Given the description of an element on the screen output the (x, y) to click on. 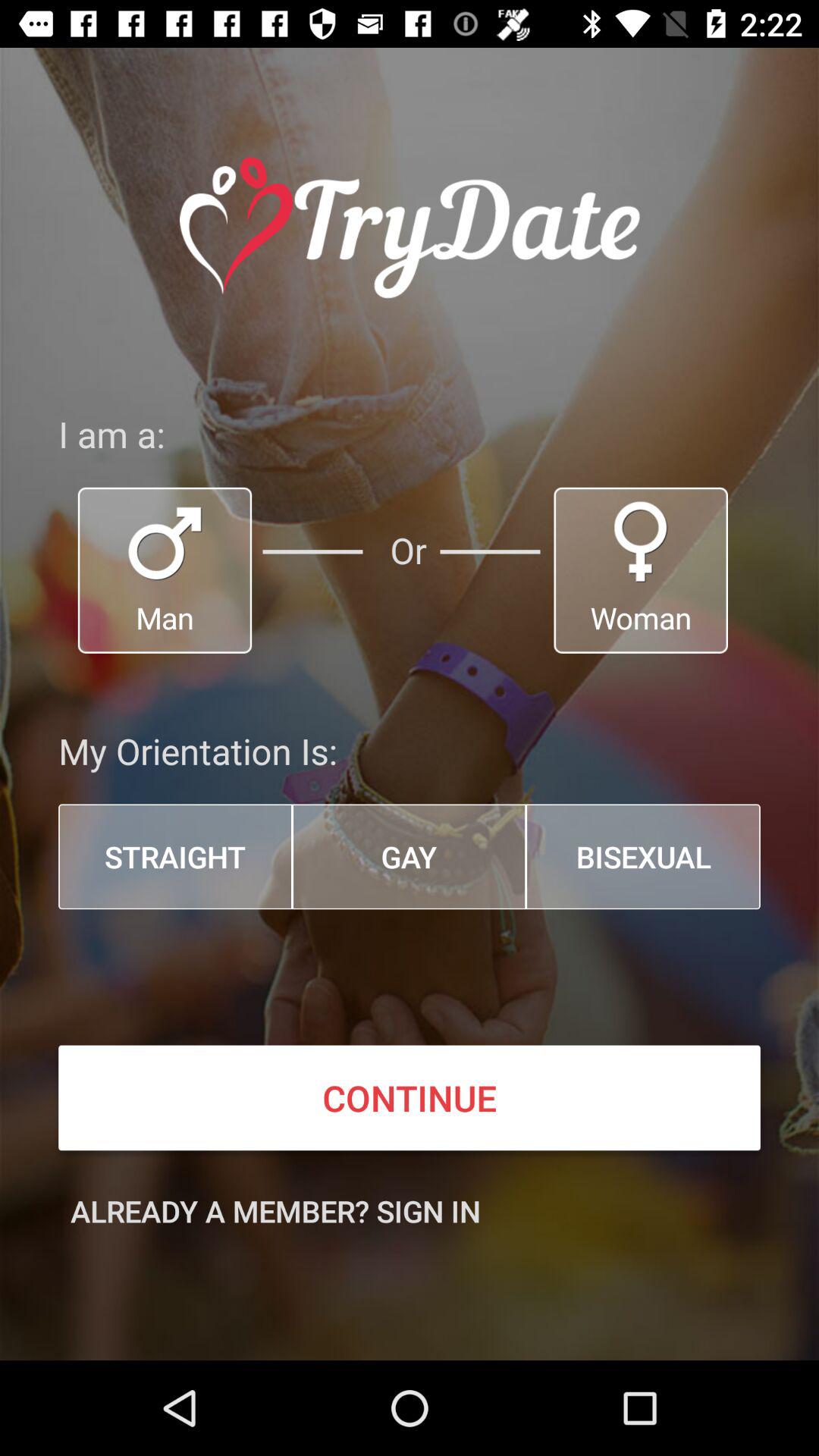
gender to given store (640, 570)
